Given the description of an element on the screen output the (x, y) to click on. 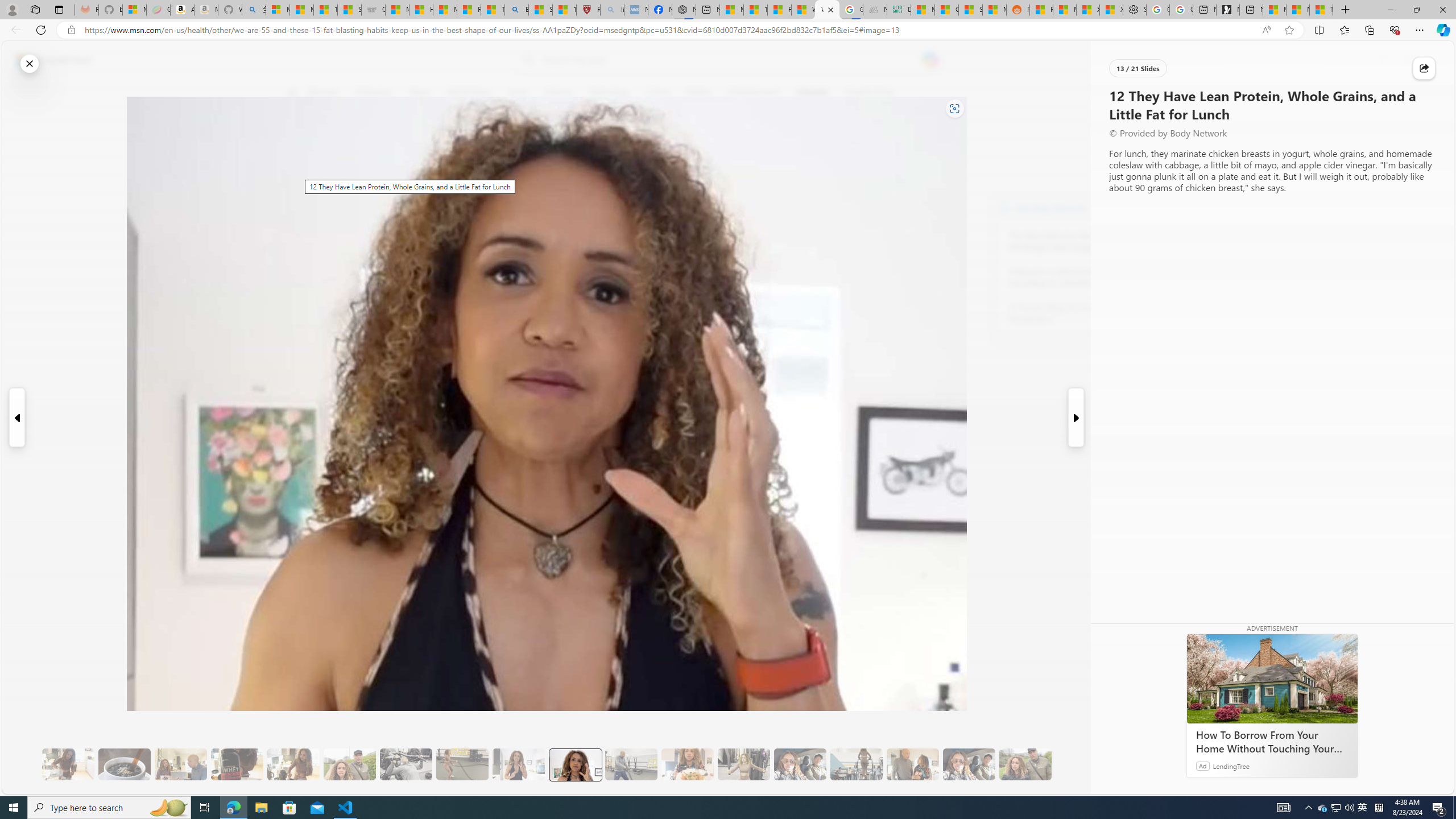
Food & Drink (865, 92)
Fitness - MSN (779, 9)
Lifestyle (812, 92)
3 They Drink Lemon Tea (68, 764)
12 Proven Ways To Increase Your Metabolism (1071, 313)
Class: at-item immersive (1423, 68)
Crime (657, 92)
7 They Don't Skip Meals (293, 764)
12 Popular Science Lies that Must be Corrected (563, 9)
Bing (515, 9)
LendingTree (1231, 765)
